Given the description of an element on the screen output the (x, y) to click on. 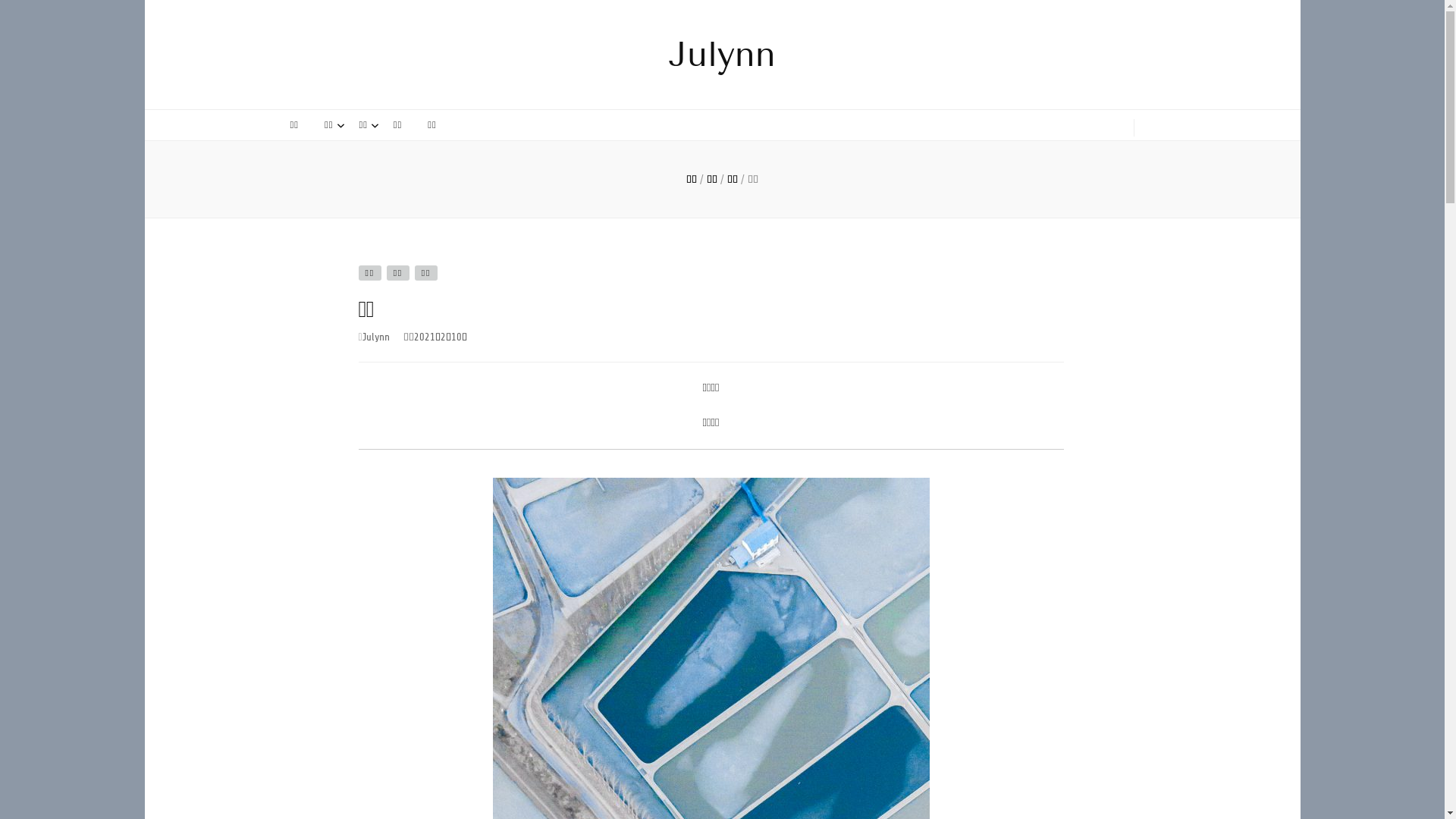
Julynn Element type: text (375, 336)
Julynn Element type: text (721, 54)
